Given the description of an element on the screen output the (x, y) to click on. 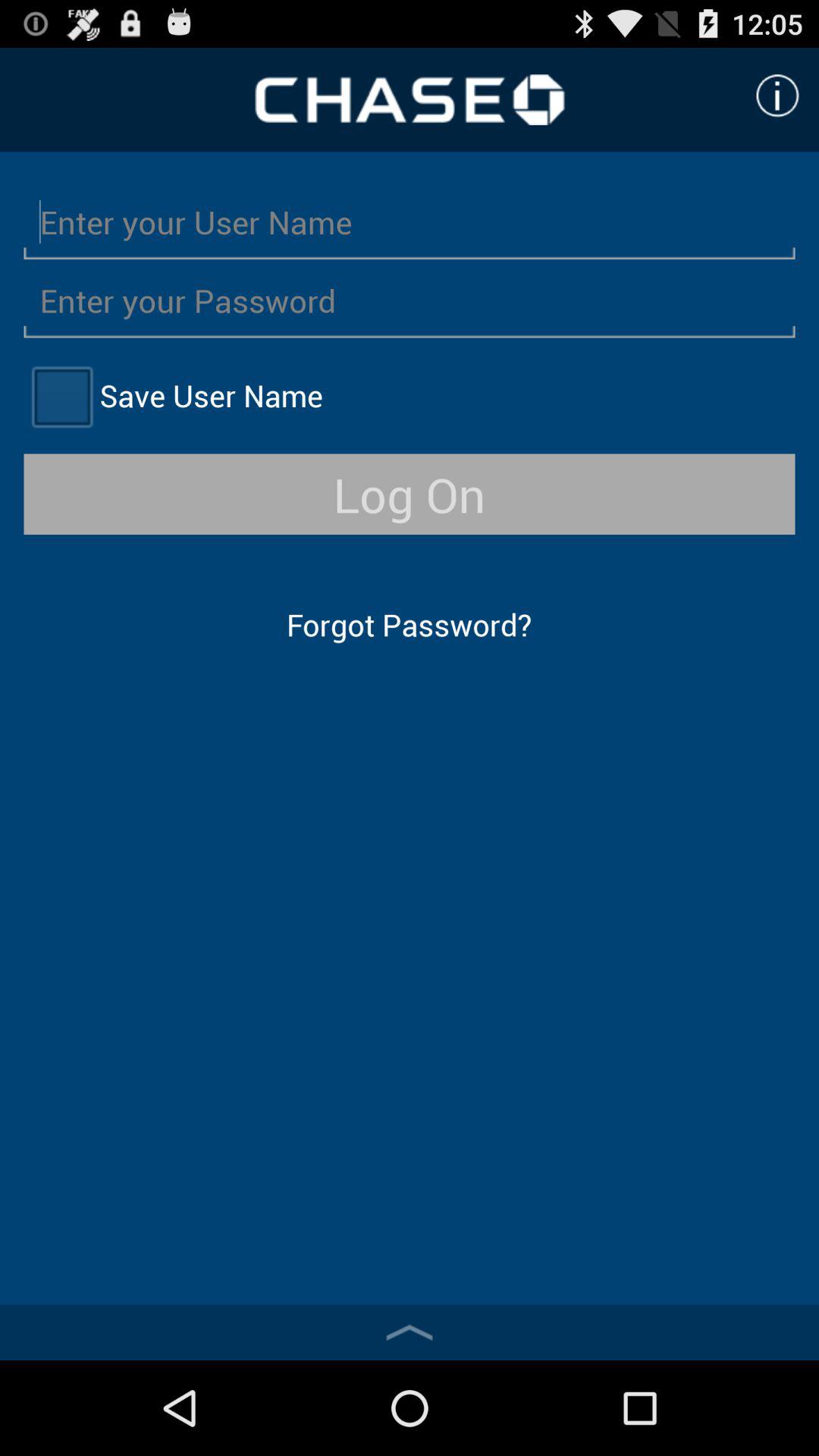
enter your user name (409, 221)
